Given the description of an element on the screen output the (x, y) to click on. 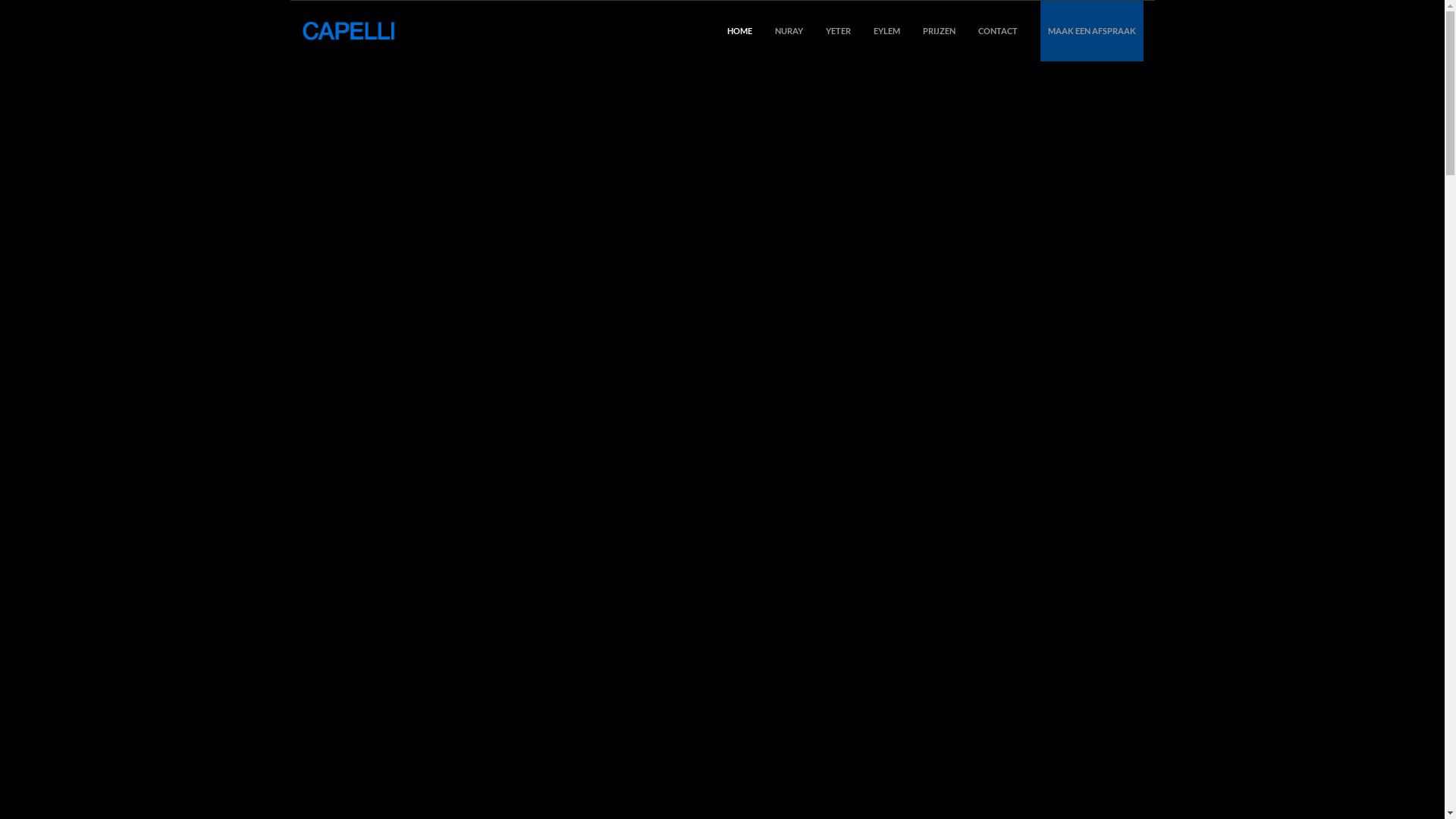
HOME Element type: text (738, 30)
PRIJZEN Element type: text (938, 30)
CONTACT Element type: text (997, 30)
NURAY Element type: text (789, 30)
YETER Element type: text (837, 30)
MAAK EEN AFSPRAAK Element type: text (1091, 30)
EYLEM Element type: text (886, 30)
